Given the description of an element on the screen output the (x, y) to click on. 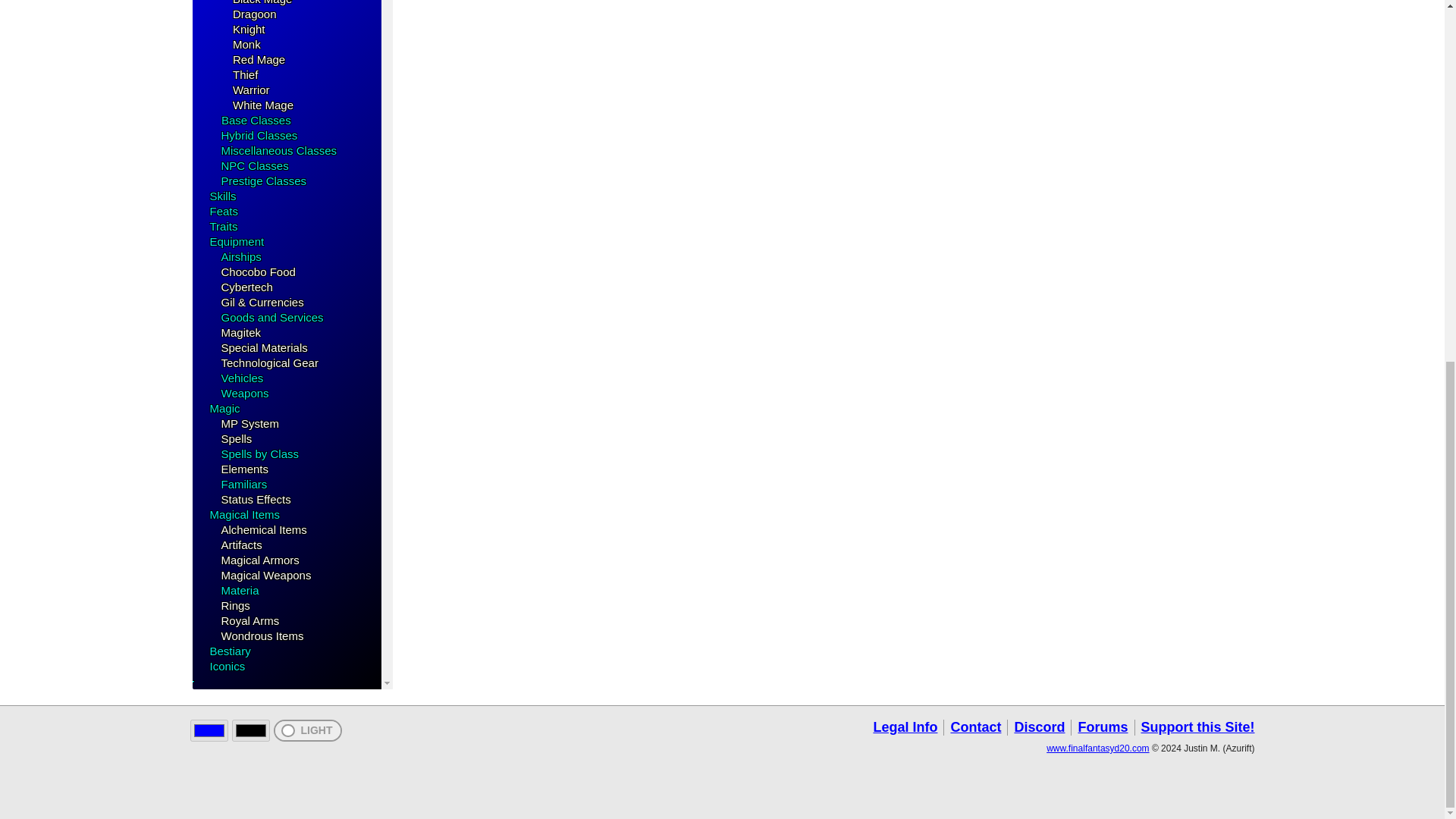
Upper left corner sidebar menu gradient color (208, 730)
Bottom right corner sidebar menu gradient color (250, 730)
